Given the description of an element on the screen output the (x, y) to click on. 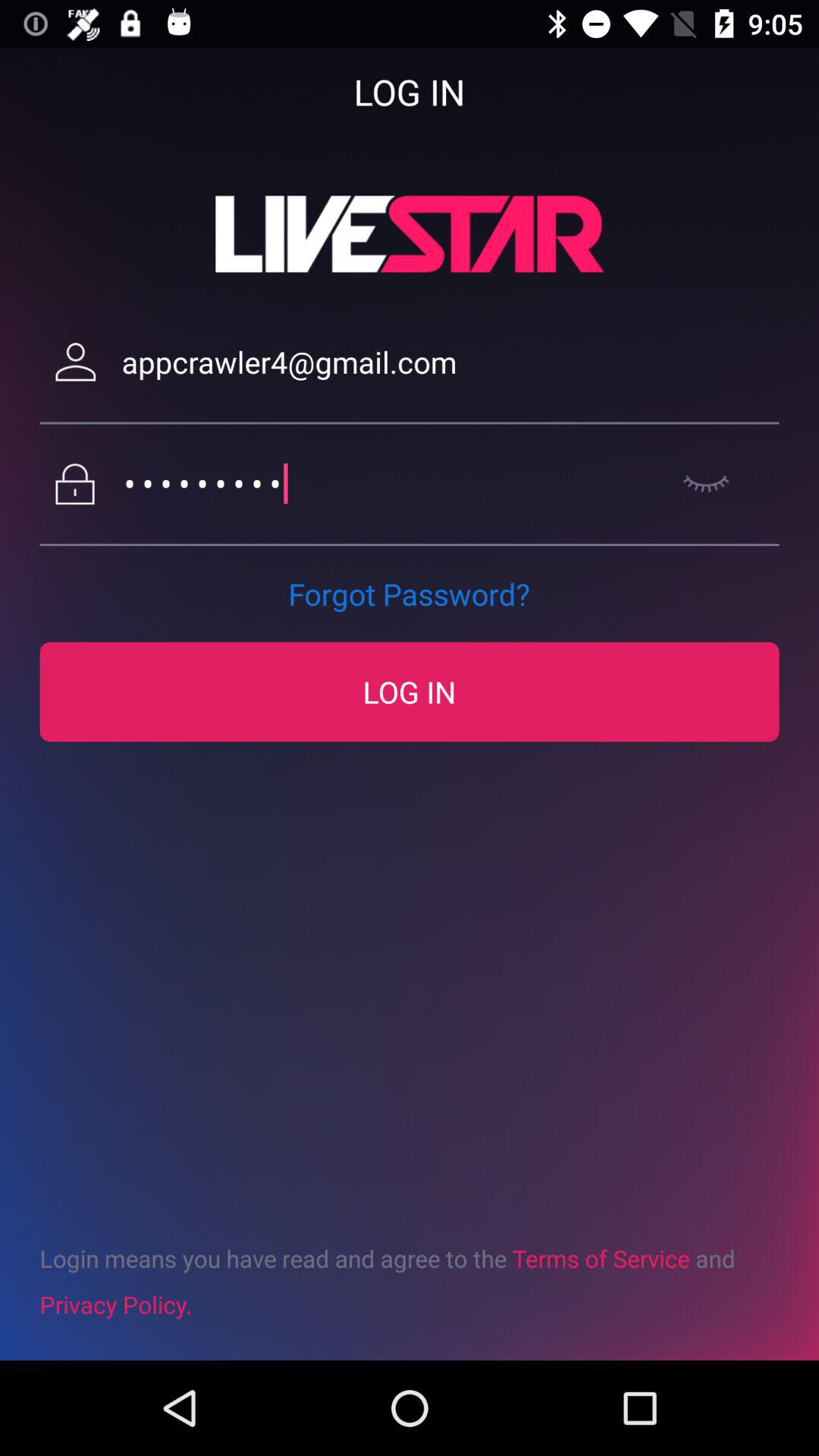
jump to login means you item (409, 1281)
